Given the description of an element on the screen output the (x, y) to click on. 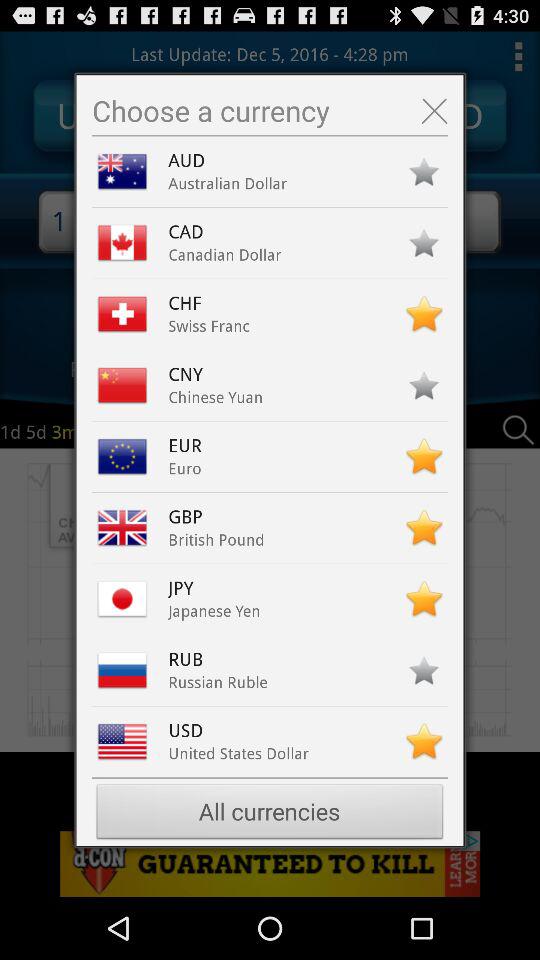
press all currencies (269, 814)
